Given the description of an element on the screen output the (x, y) to click on. 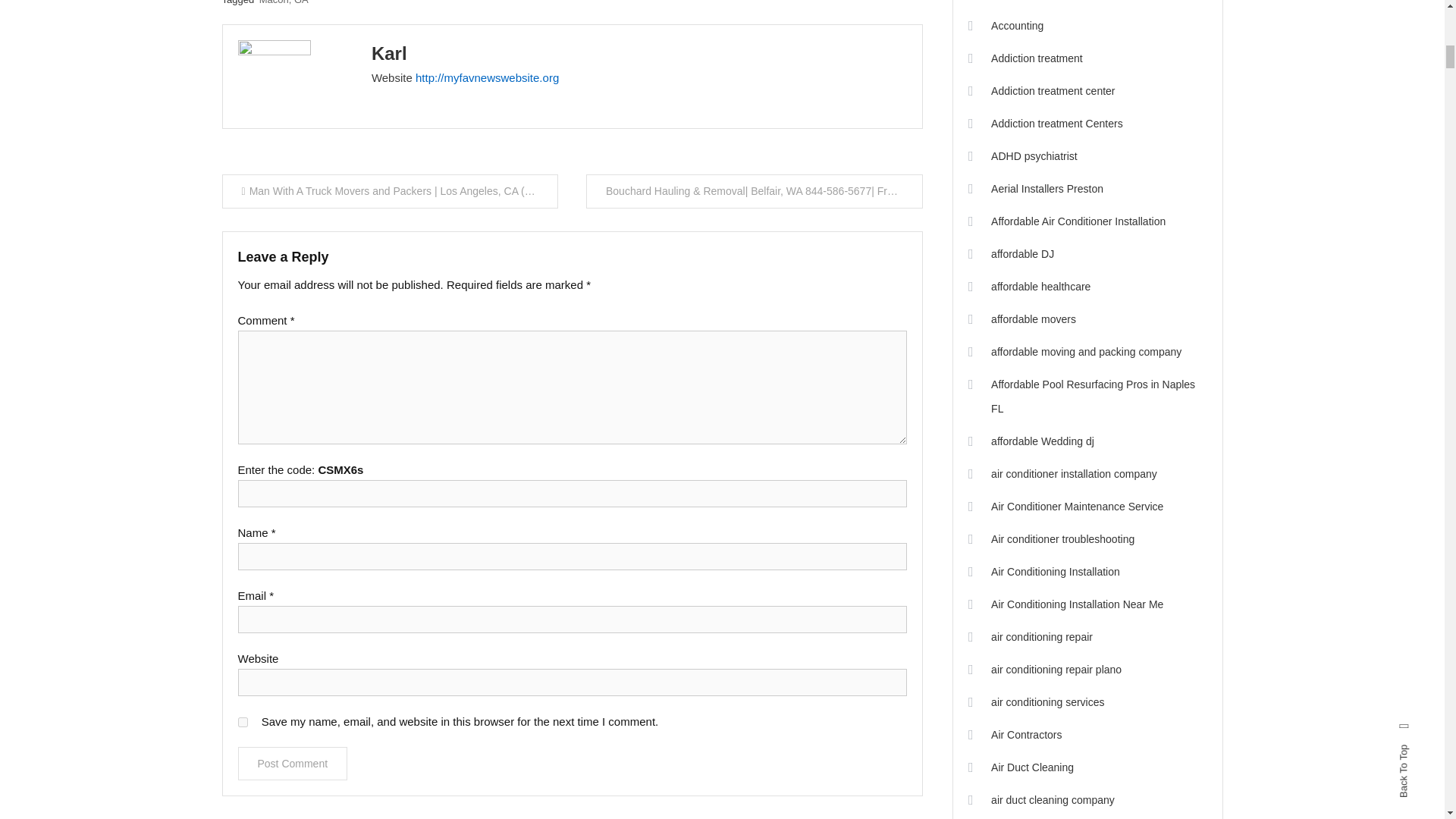
yes (242, 722)
Post Comment (292, 763)
Posts by Karl (389, 53)
